Given the description of an element on the screen output the (x, y) to click on. 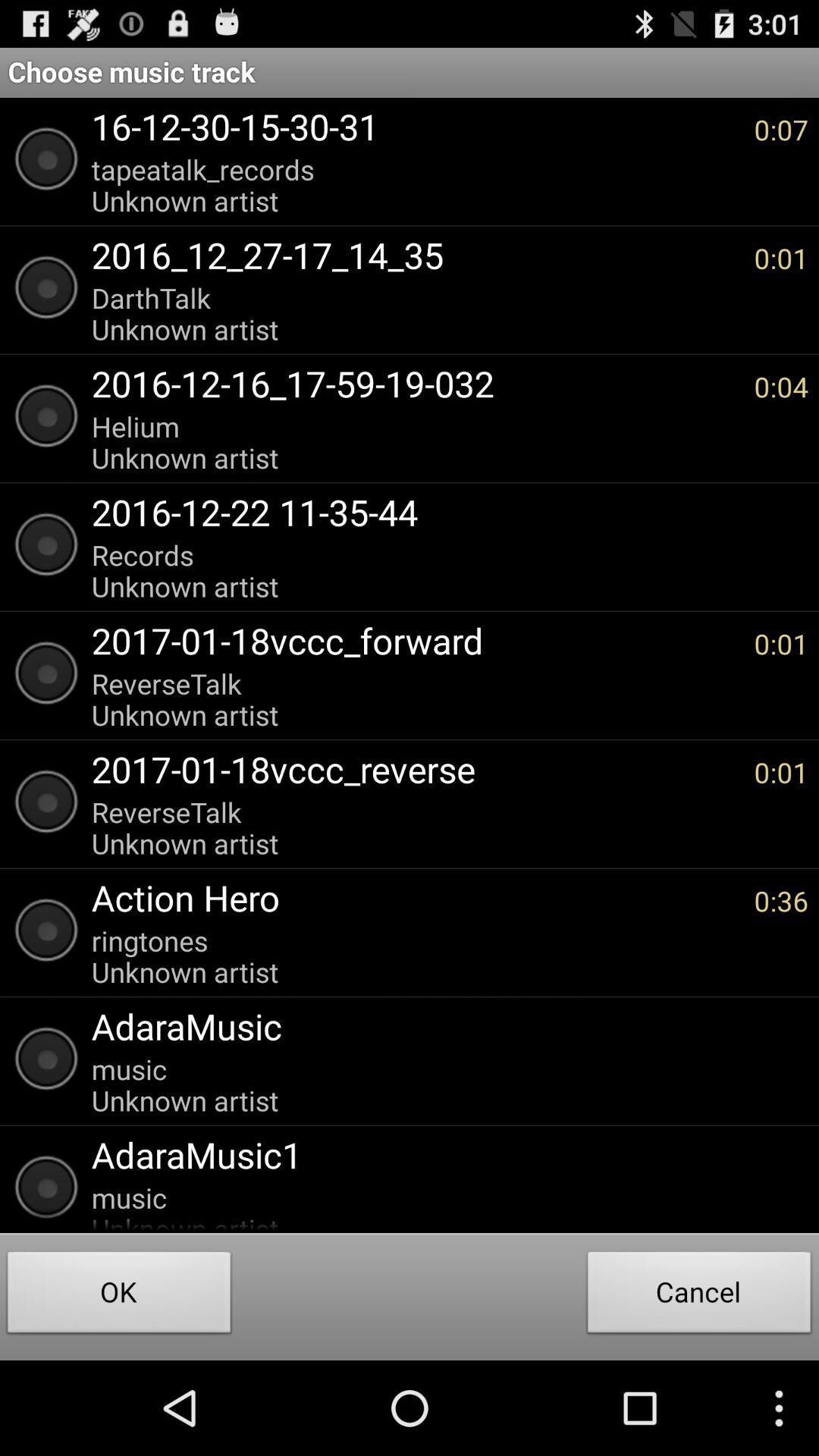
press the cancel item (699, 1296)
